Given the description of an element on the screen output the (x, y) to click on. 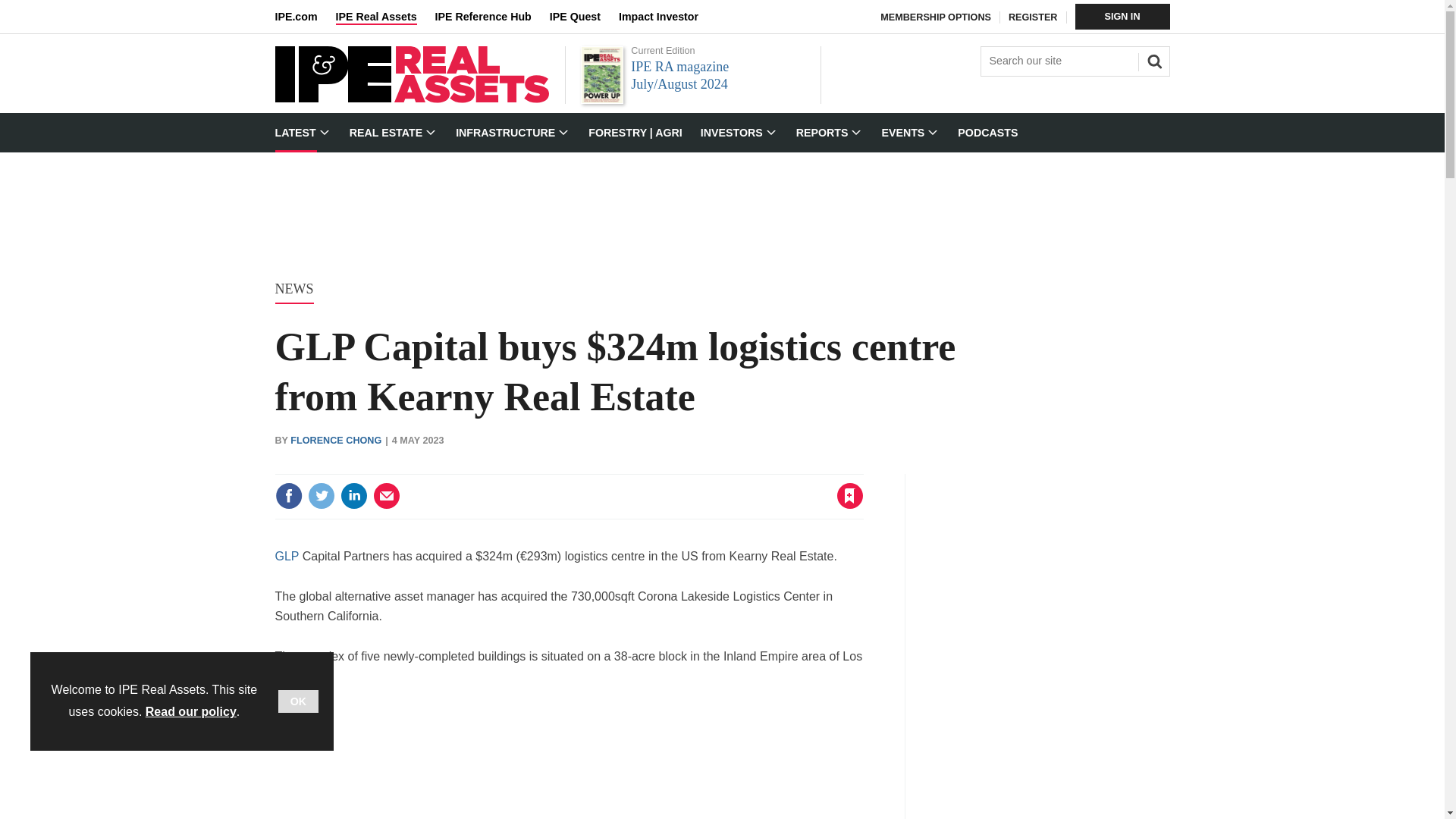
IPE Reference Hub (491, 16)
REGISTER (1033, 17)
Share this on Twitter (320, 495)
Share this on Facebook (288, 495)
Read our policy (190, 711)
IPE.com (304, 16)
MEMBERSHIP OPTIONS (935, 17)
Real Assets (411, 98)
3rd party ad content (568, 763)
IPE Reference Hub (491, 16)
